Given the description of an element on the screen output the (x, y) to click on. 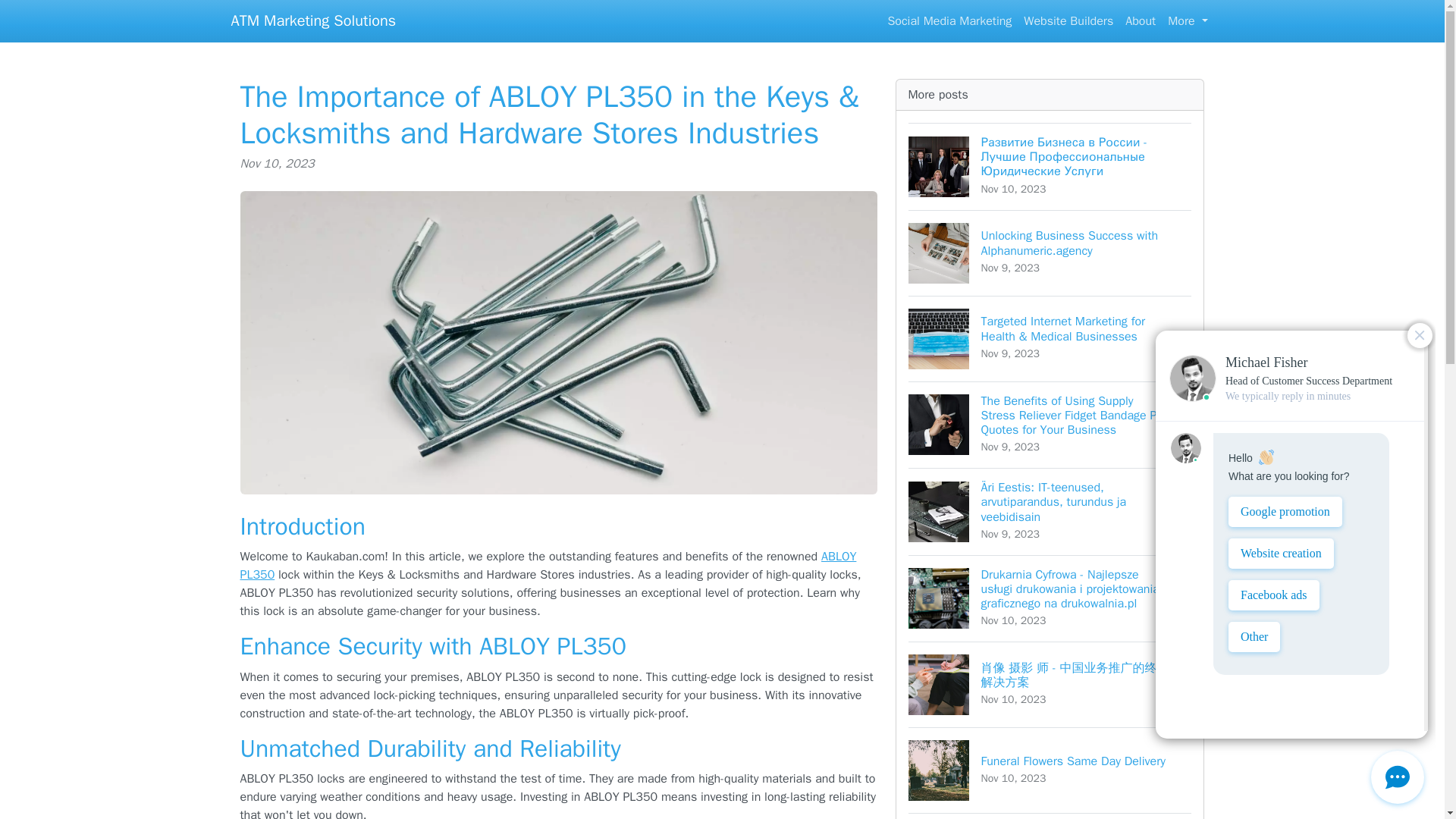
ABLOY PL350 (548, 565)
More (1186, 20)
ATM Marketing Solutions (1050, 816)
Website Builders (313, 20)
About (1068, 20)
Social Media Marketing (1140, 20)
